Given the description of an element on the screen output the (x, y) to click on. 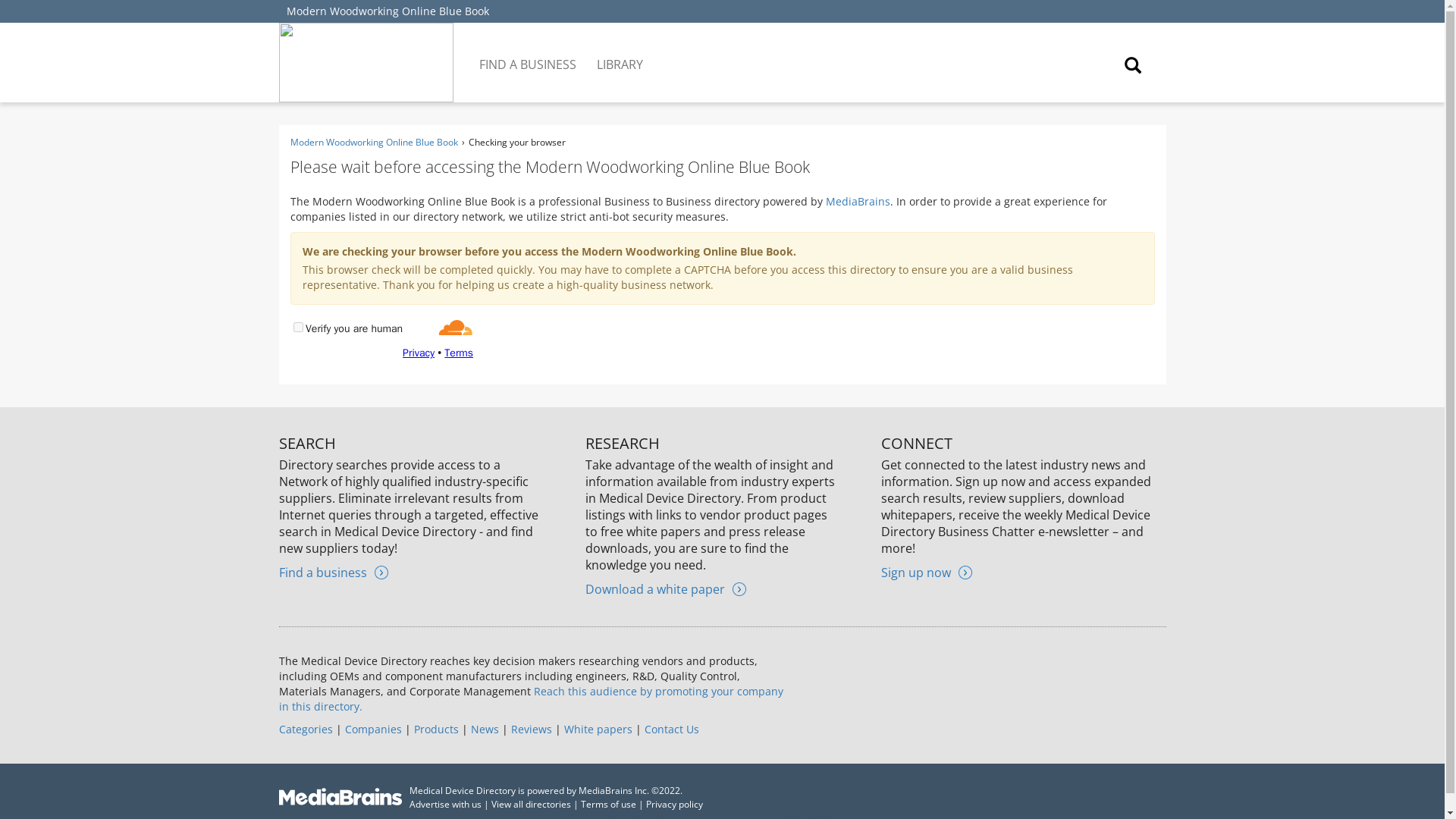
FIND A BUSINESS (528, 52)
LIBRARY (620, 52)
Categories (306, 728)
Reviews (531, 728)
Modern Woodworking Online Blue Book (387, 11)
Terms of use (608, 803)
Sign up now (926, 572)
Download a white paper (665, 588)
News (483, 728)
Modern Woodworking Online Blue Book (373, 141)
Companies (372, 728)
MediaBrains (857, 201)
Find a business (333, 572)
Advertise with us (445, 803)
Privacy policy (674, 803)
